Given the description of an element on the screen output the (x, y) to click on. 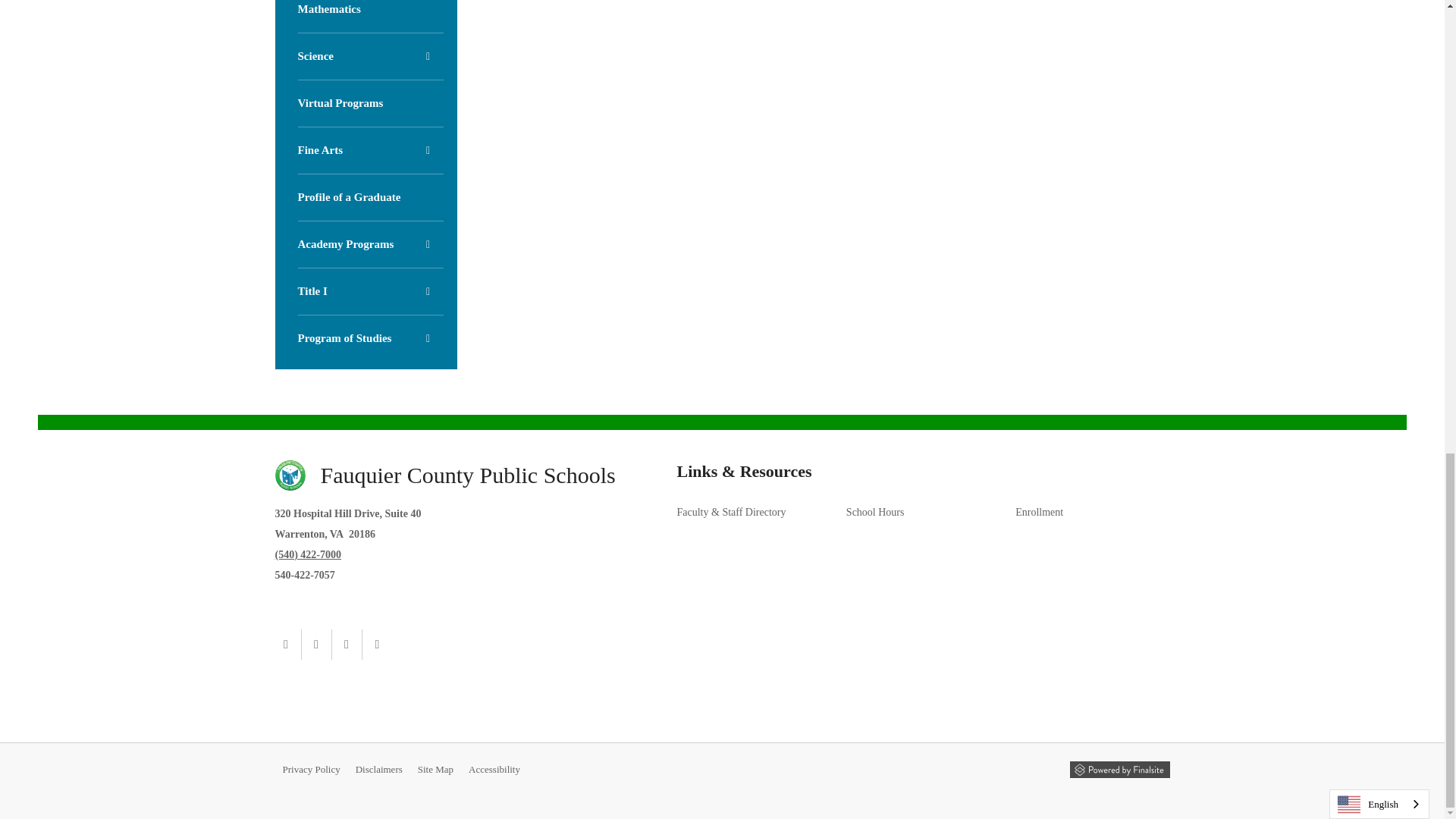
Powered by Finalsite opens in a new window (1118, 769)
